Given the description of an element on the screen output the (x, y) to click on. 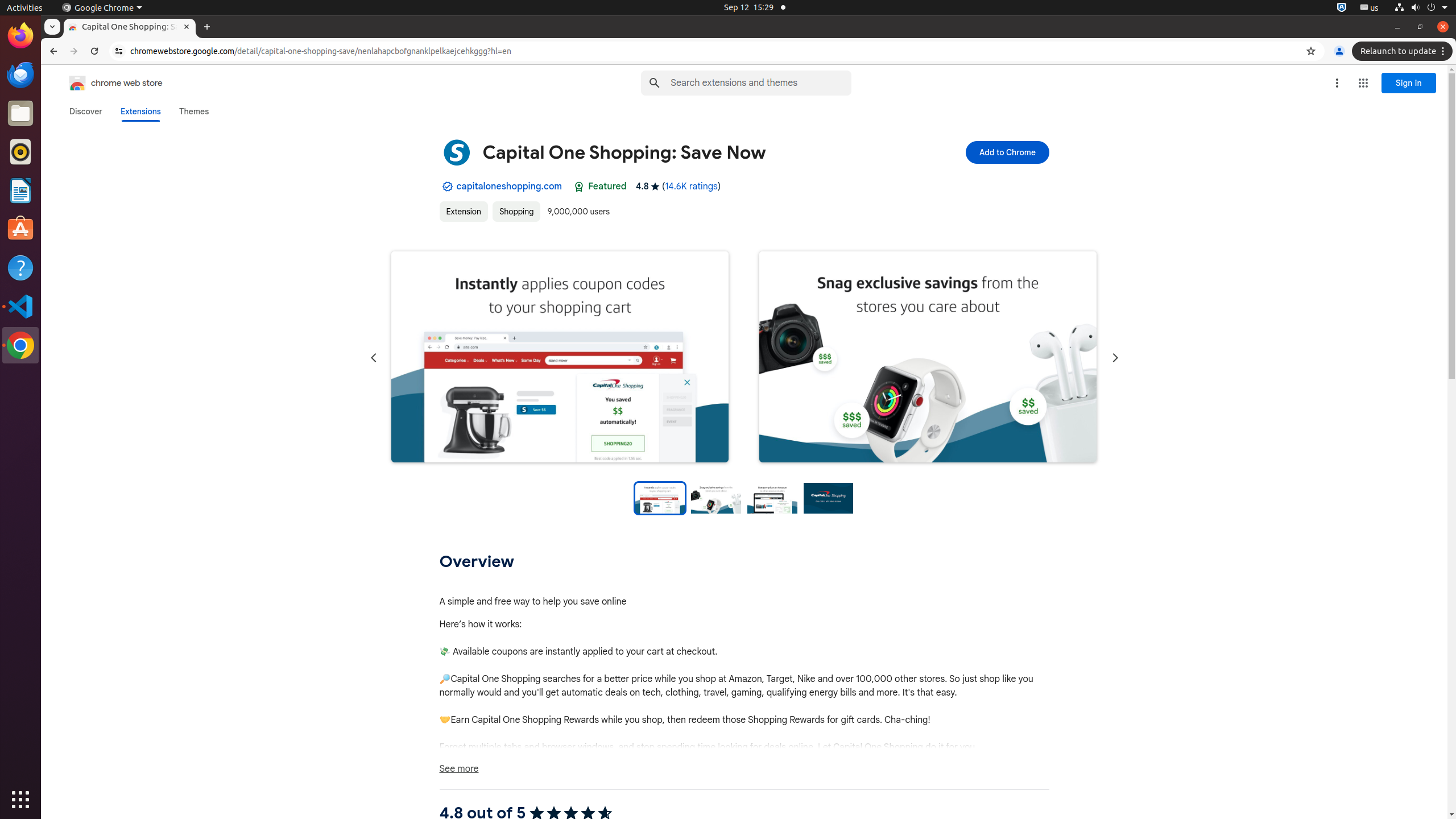
Firefox Web Browser Element type: push-button (20, 35)
Item logo image for Capital One Shopping: Save Now Capital One Shopping: Save Now Element type: link (666, 152)
:1.72/StatusNotifierItem Element type: menu (1341, 7)
LibreOffice Writer Element type: push-button (20, 190)
Extensions Element type: page-tab (140, 111)
